Given the description of an element on the screen output the (x, y) to click on. 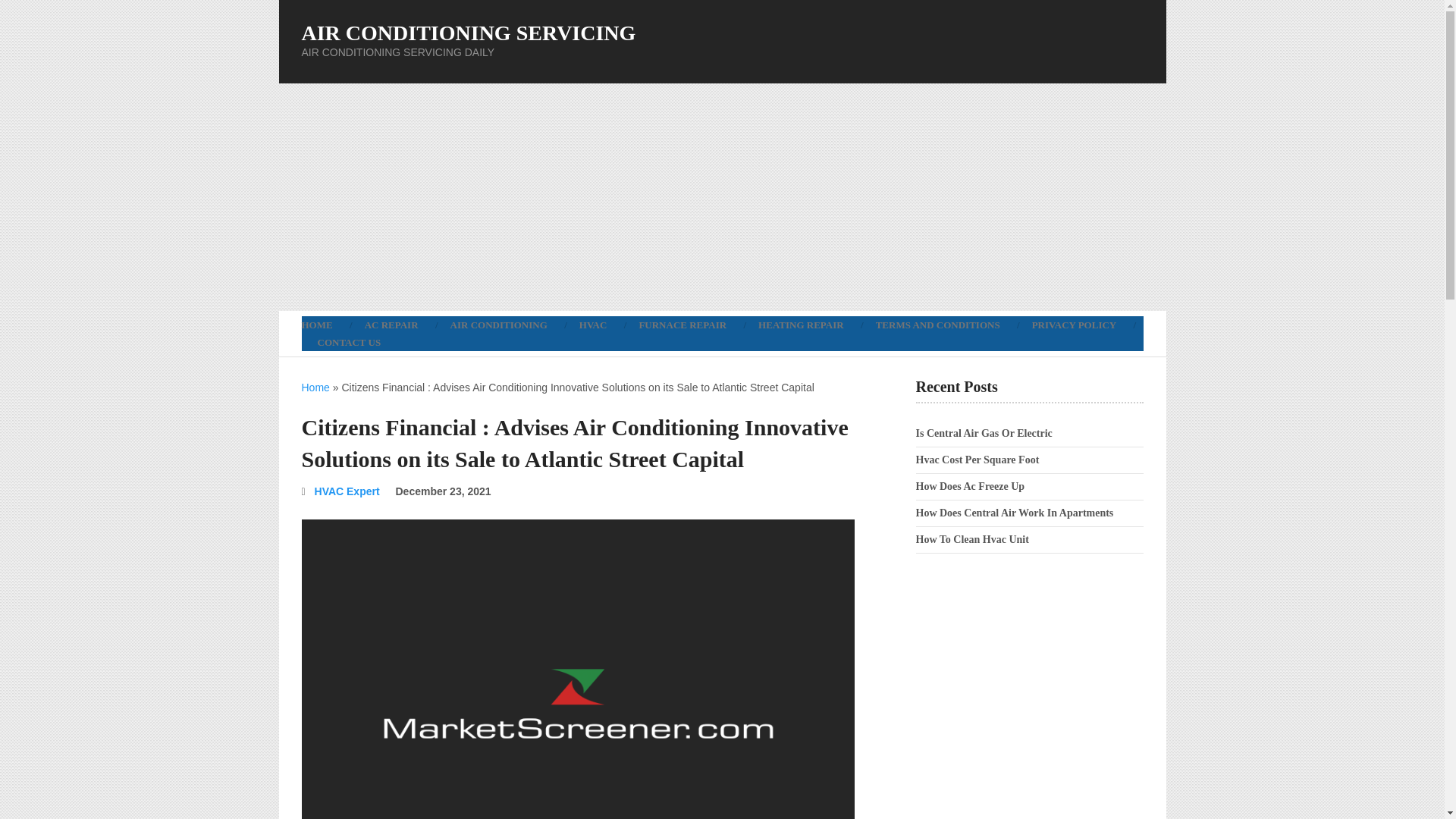
AIR CONDITIONING (498, 324)
Is Central Air Gas Or Electric (983, 432)
AC REPAIR (391, 324)
How To Clean Hvac Unit (972, 539)
HOME (325, 324)
PRIVACY POLICY (1074, 324)
FURNACE REPAIR (682, 324)
Home (315, 387)
